Given the description of an element on the screen output the (x, y) to click on. 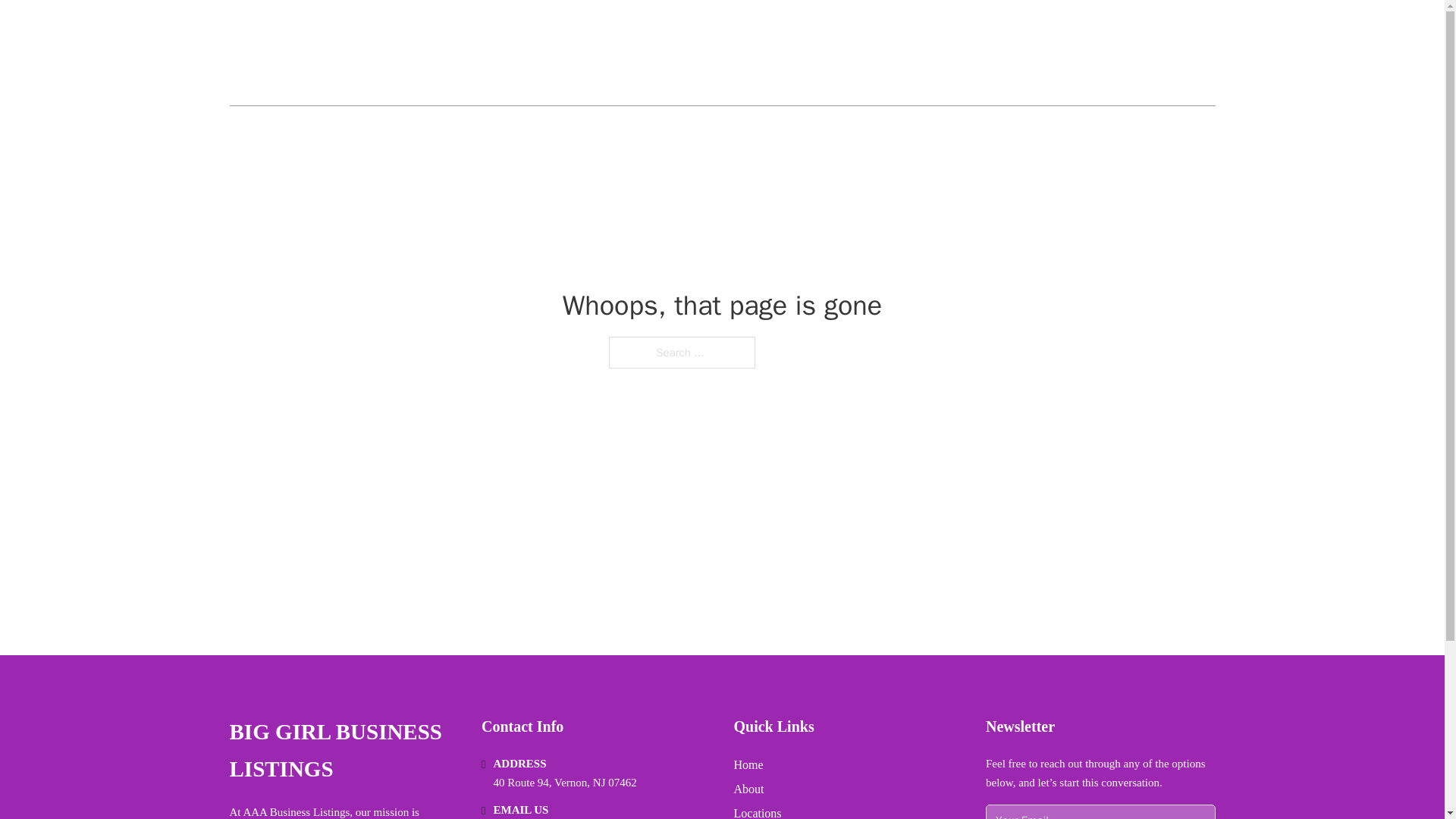
HOME (1010, 53)
BIG GIRL BUSINESS LISTINGS (343, 750)
Home (747, 764)
Locations (757, 811)
About (748, 788)
BIG GIRL BUSINESS LISTINGS (400, 52)
LOCATIONS (1082, 53)
